Given the description of an element on the screen output the (x, y) to click on. 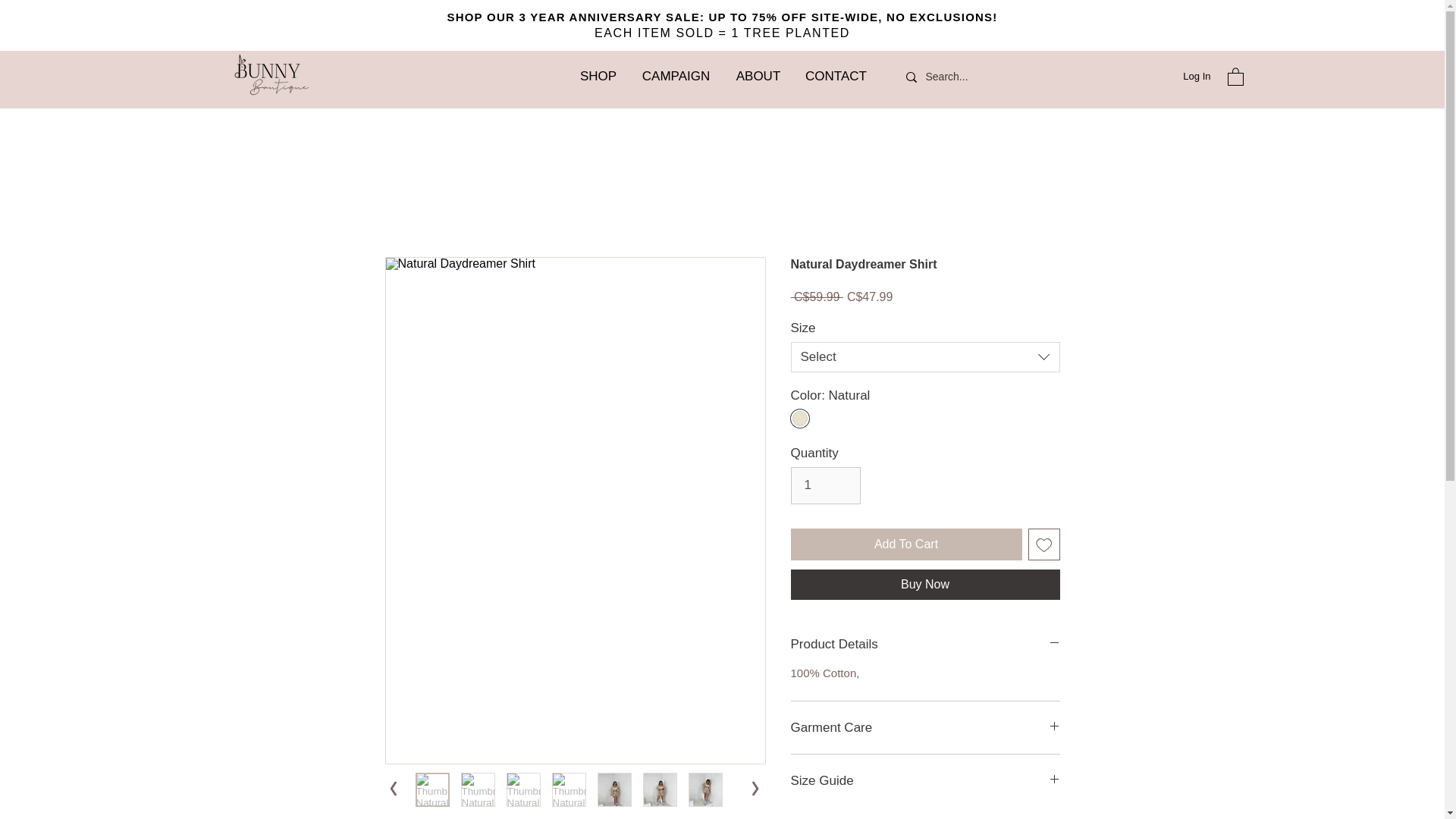
1 (825, 485)
Buy Now (924, 584)
Product Details (924, 643)
Add To Cart (906, 544)
CAMPAIGN (675, 76)
SHOP (597, 76)
ABOUT (758, 76)
CONTACT (836, 76)
Log In (1196, 76)
Select (924, 357)
